Given the description of an element on the screen output the (x, y) to click on. 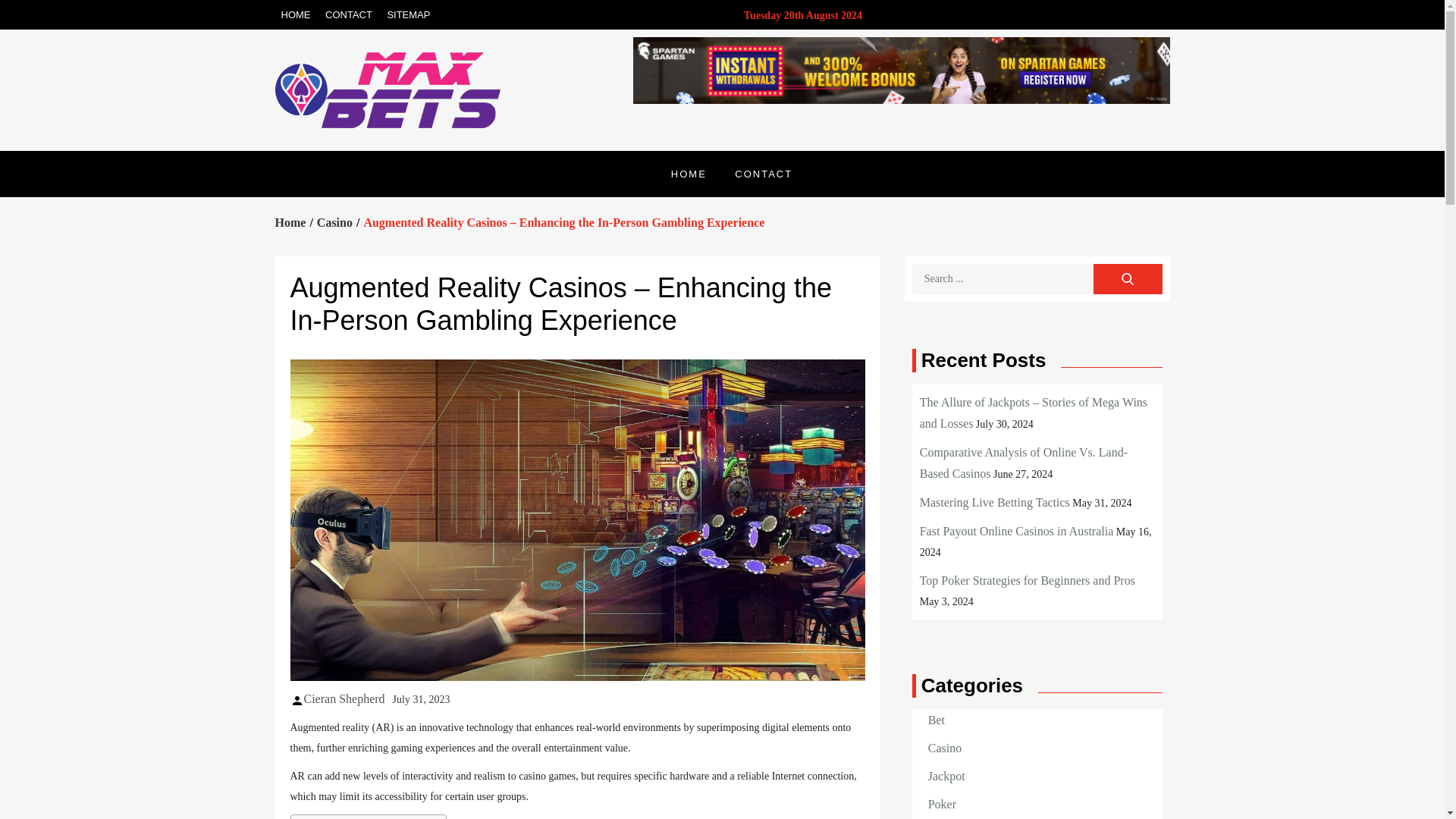
Fast Payout Online Casinos in Australia (1016, 530)
Casino (944, 747)
Home (290, 222)
Poker (942, 803)
Search (1127, 278)
July 31, 2023 (421, 698)
HOME (688, 173)
Search for: (1036, 278)
CONTACT (763, 173)
HOME (295, 14)
